Given the description of an element on the screen output the (x, y) to click on. 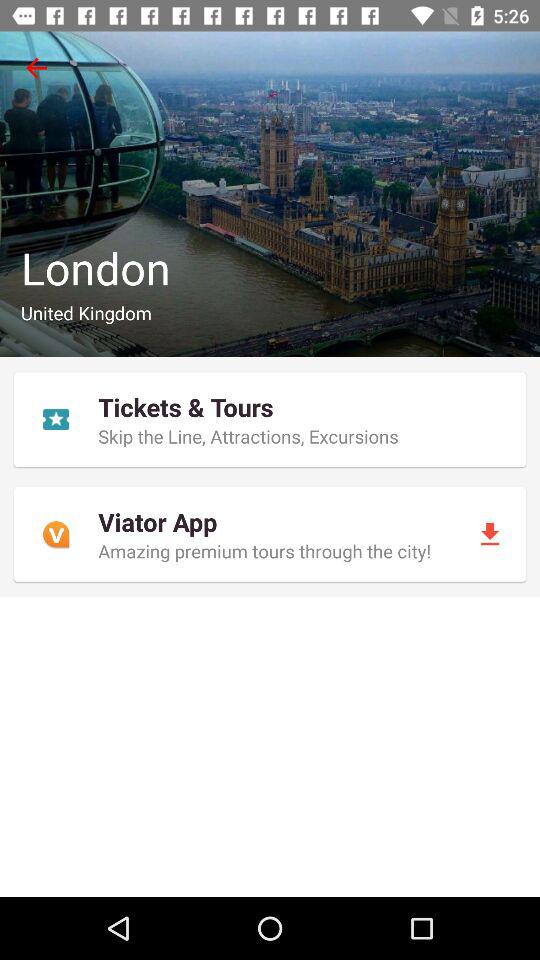
choose icon at the top left corner (36, 68)
